Given the description of an element on the screen output the (x, y) to click on. 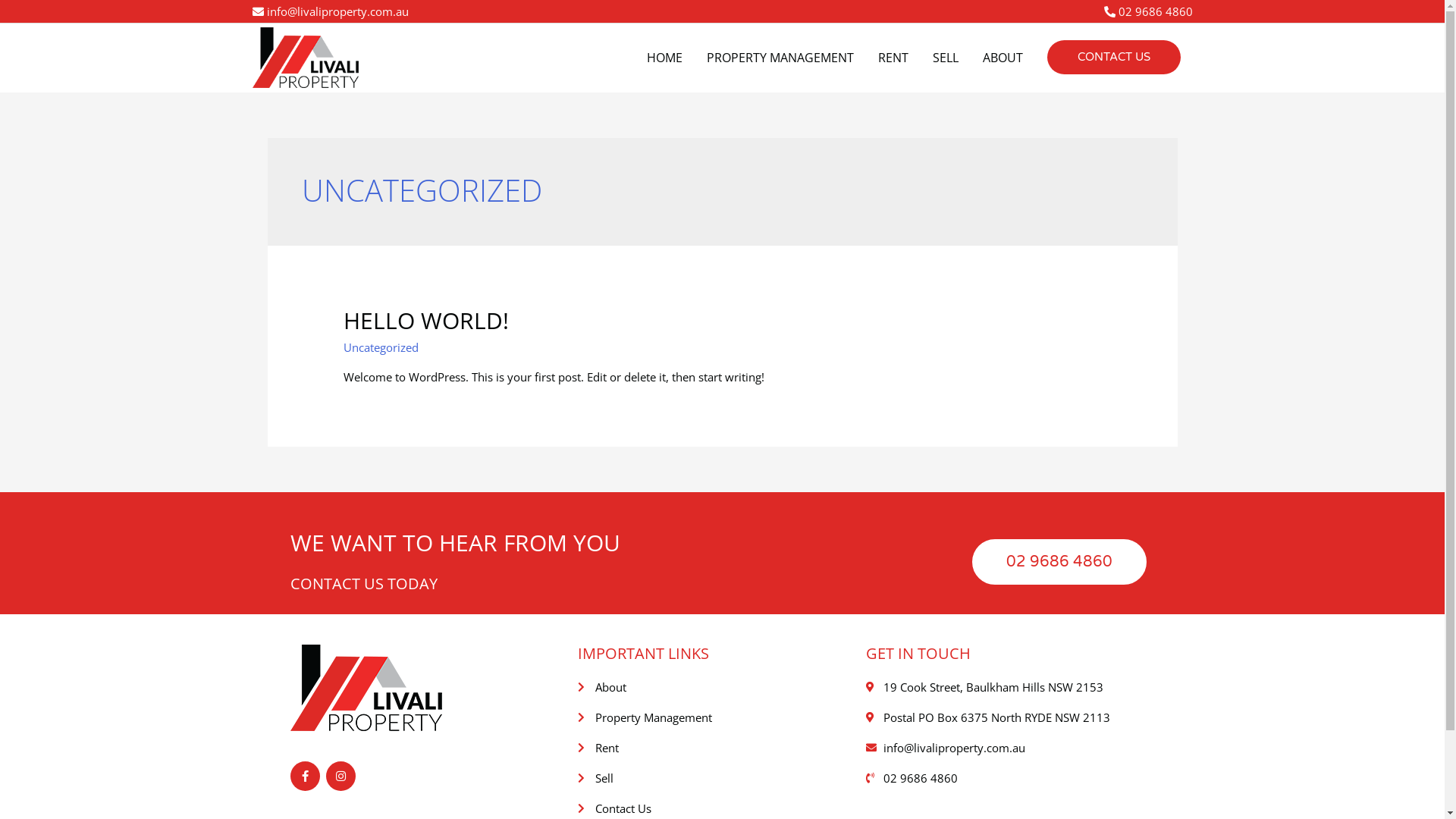
RENT Element type: text (893, 57)
Uncategorized Element type: text (380, 346)
HELLO WORLD! Element type: text (425, 319)
CONTACT US Element type: text (1112, 57)
HOME Element type: text (663, 57)
Contact Us Element type: text (721, 808)
02 9686 4860 Element type: text (1059, 561)
Sell Element type: text (721, 777)
About Element type: text (721, 686)
ABOUT Element type: text (1002, 57)
Rent Element type: text (721, 747)
Property Management Element type: text (721, 717)
SELL Element type: text (945, 57)
PROPERTY MANAGEMENT Element type: text (780, 57)
